Given the description of an element on the screen output the (x, y) to click on. 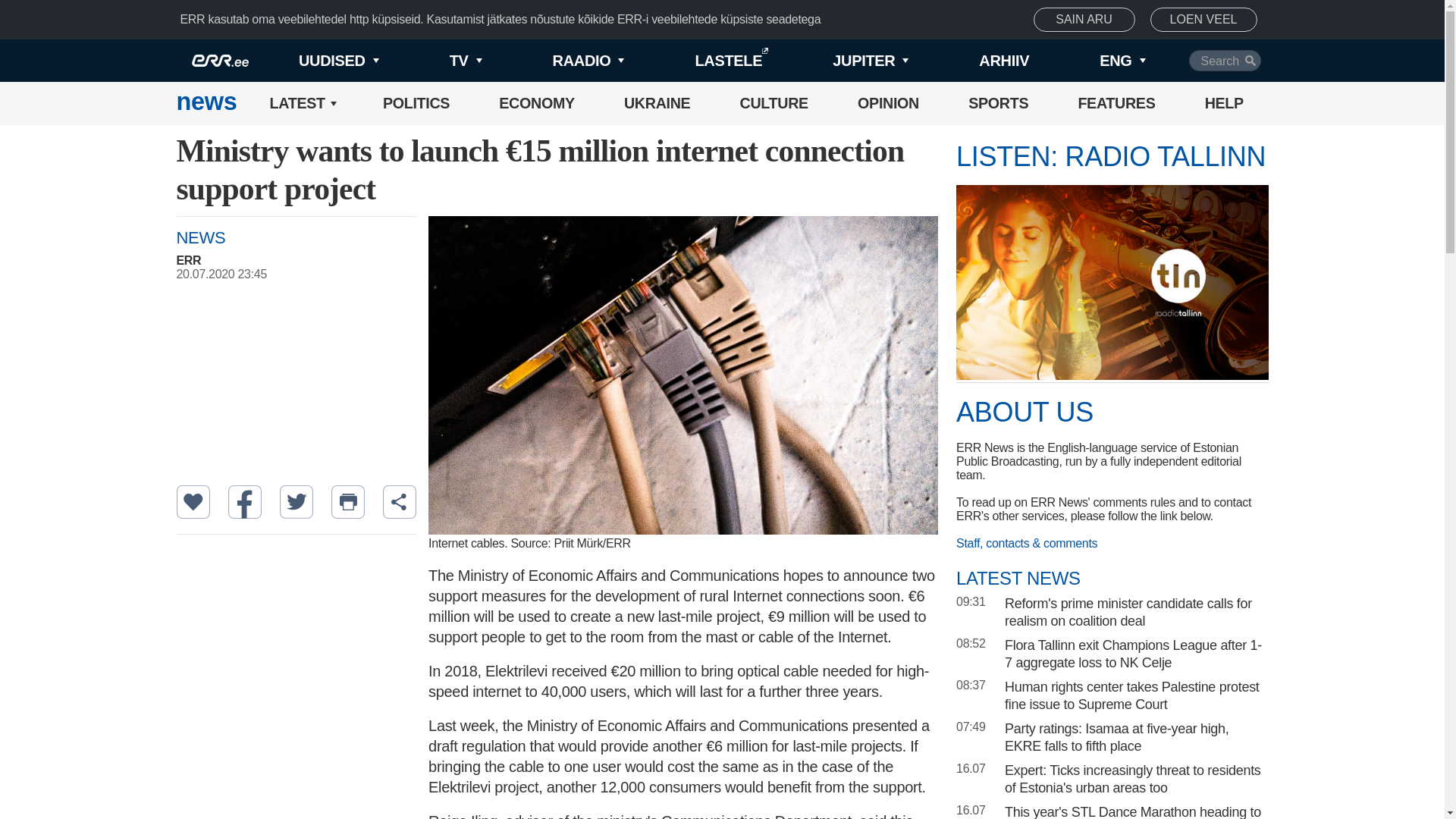
UUDISED (314, 60)
Avalehele (205, 103)
20.07.2020 23:45 (302, 274)
TV (440, 60)
RAADIO (563, 60)
SAIN ARU (1084, 19)
LOEN VEEL (1203, 19)
